Given the description of an element on the screen output the (x, y) to click on. 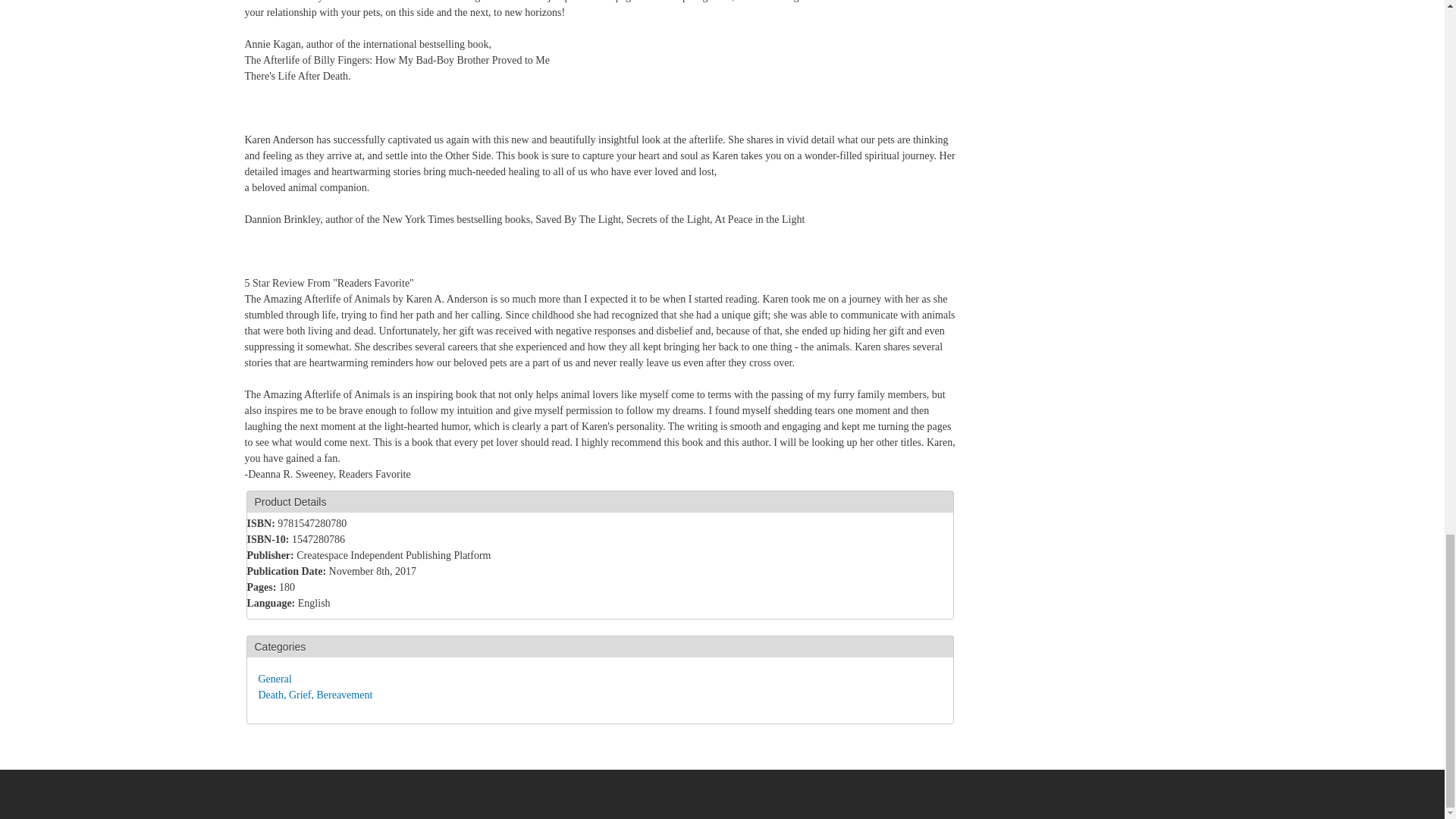
Death, Grief, Bereavement (314, 695)
General (274, 678)
